Given the description of an element on the screen output the (x, y) to click on. 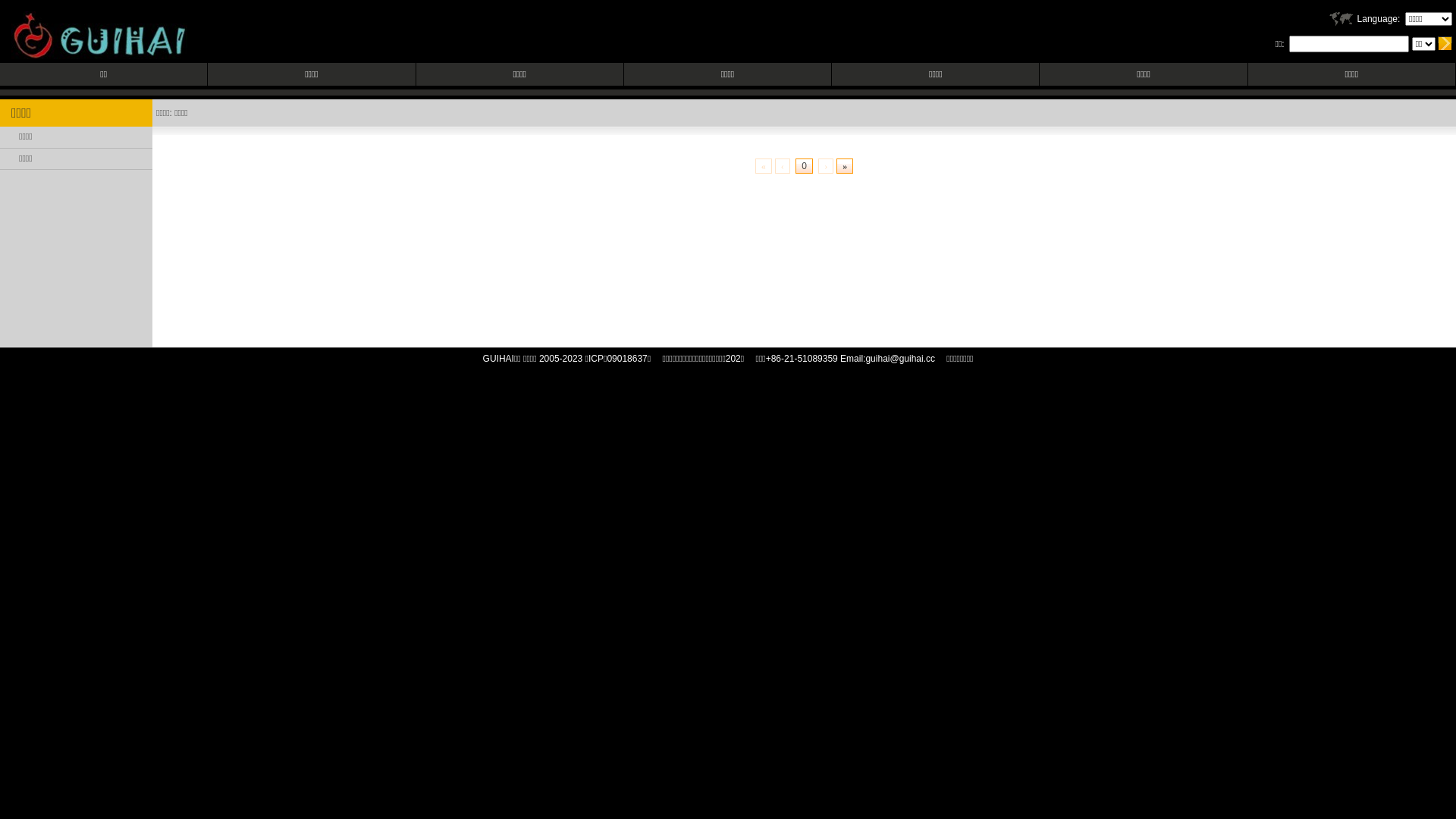
0 Element type: text (803, 165)
